Given the description of an element on the screen output the (x, y) to click on. 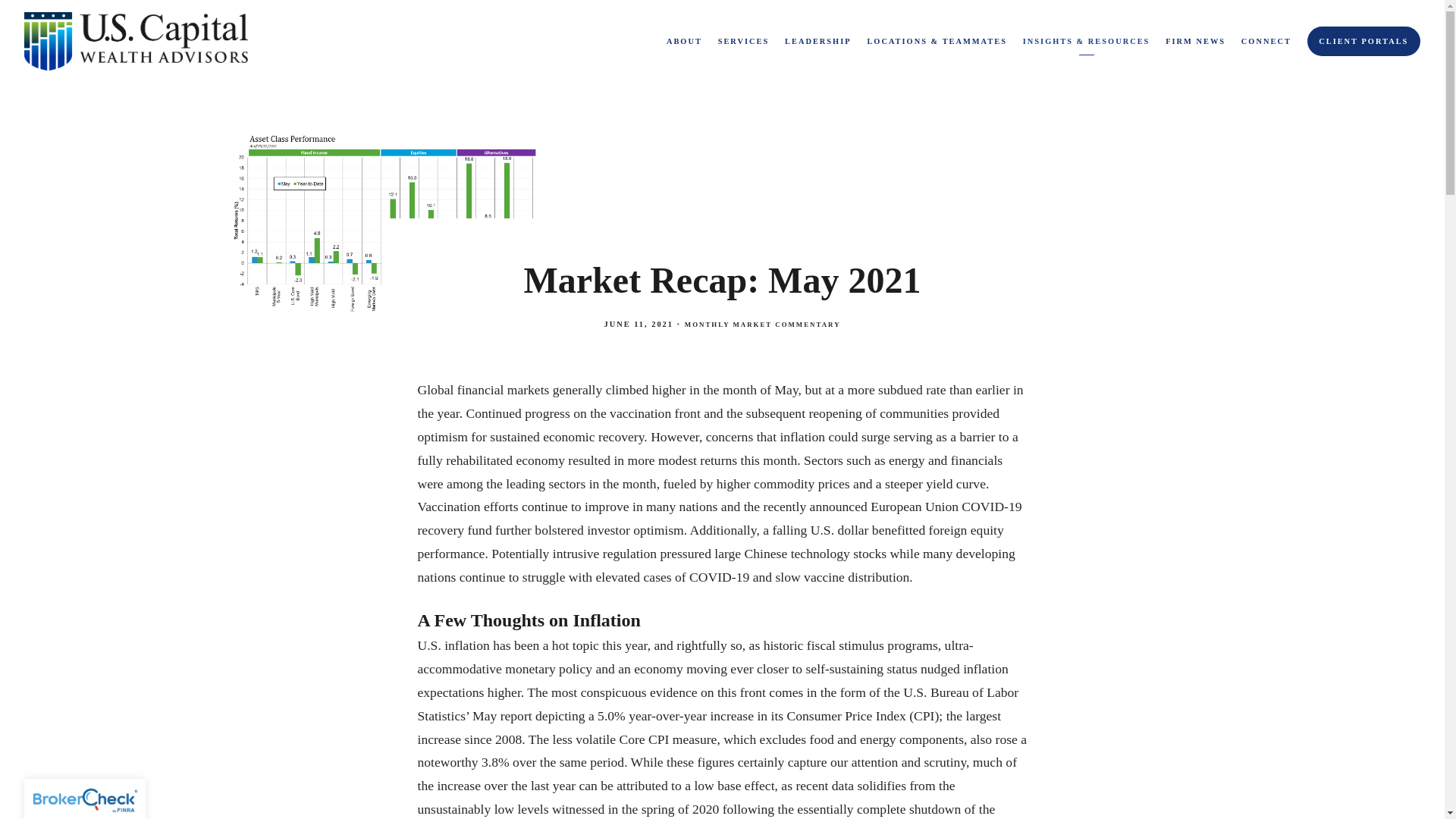
MONTHLY MARKET COMMENTARY (762, 324)
CONNECT (1266, 41)
FIRM NEWS (1195, 41)
CLIENT PORTALS (1364, 41)
SERVICES (743, 41)
LEADERSHIP (817, 41)
ABOUT (683, 41)
